Given the description of an element on the screen output the (x, y) to click on. 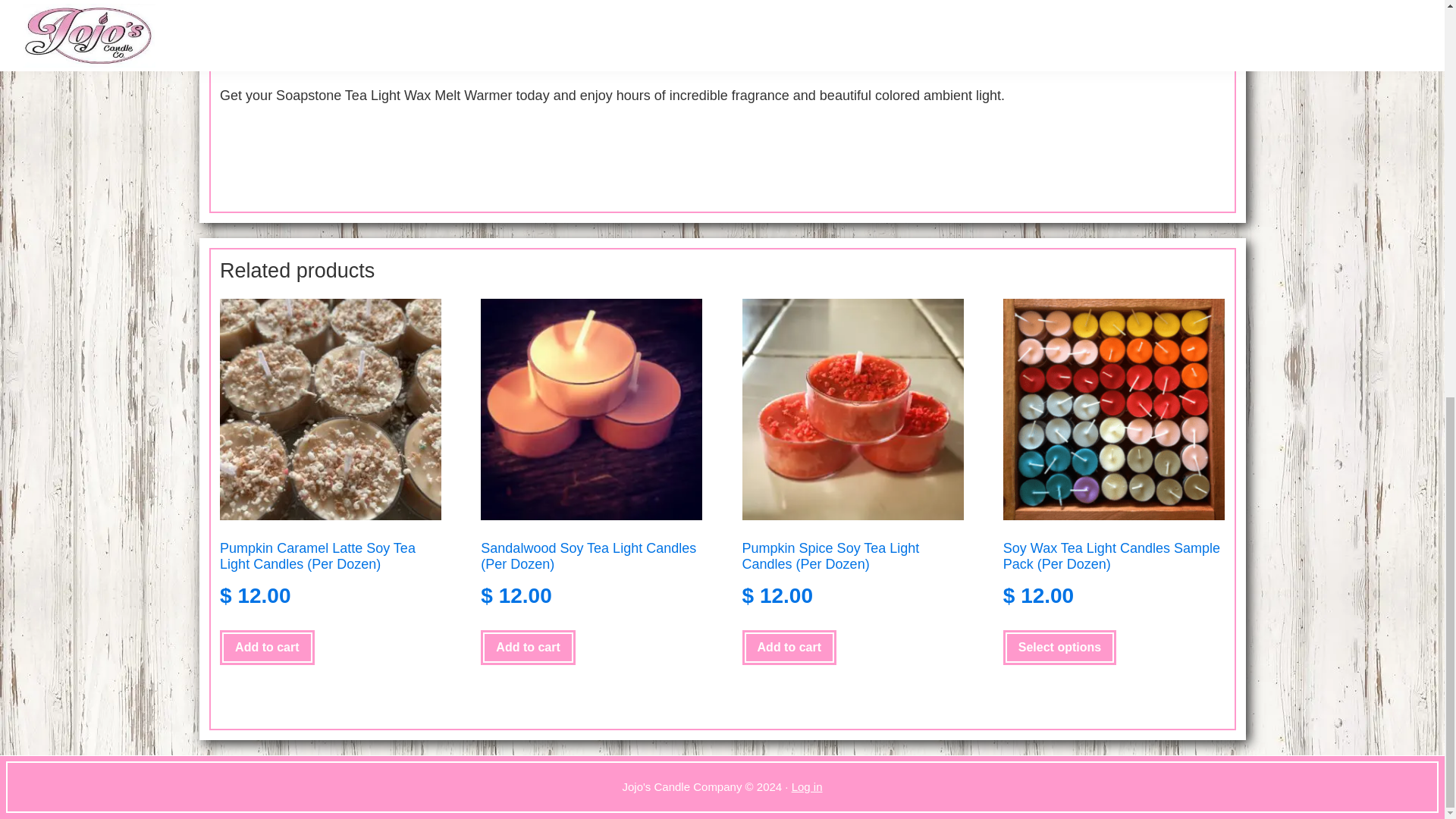
Add to cart (788, 647)
Select options (1059, 647)
Log in (807, 786)
Add to cart (266, 647)
Add to cart (527, 647)
